Given the description of an element on the screen output the (x, y) to click on. 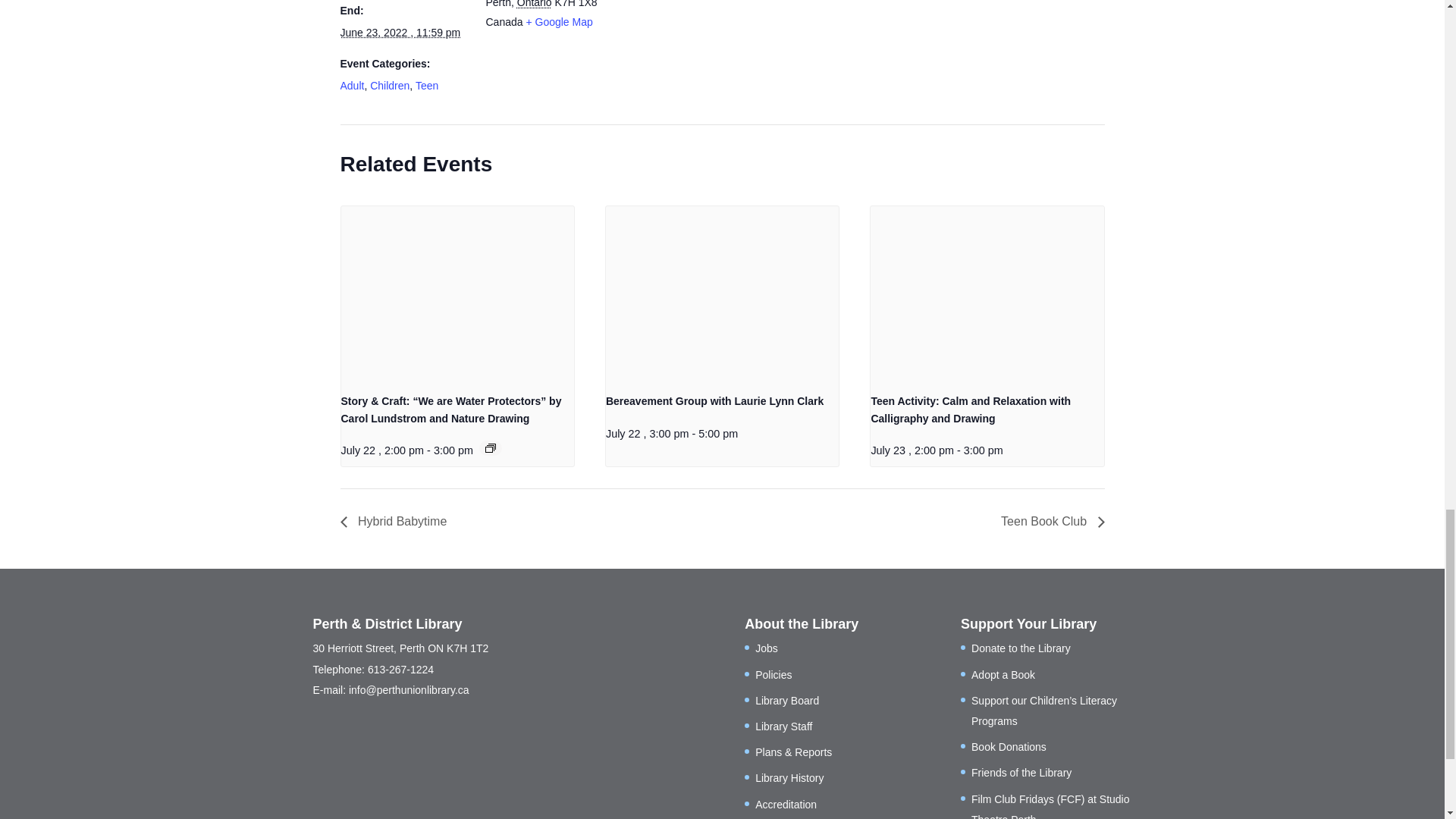
Event Series (490, 447)
Google maps iframe displaying the address to Last Duel Park (710, 42)
2022-06-23 (399, 32)
Click to view a Google Map (558, 21)
Ontario (533, 4)
